Given the description of an element on the screen output the (x, y) to click on. 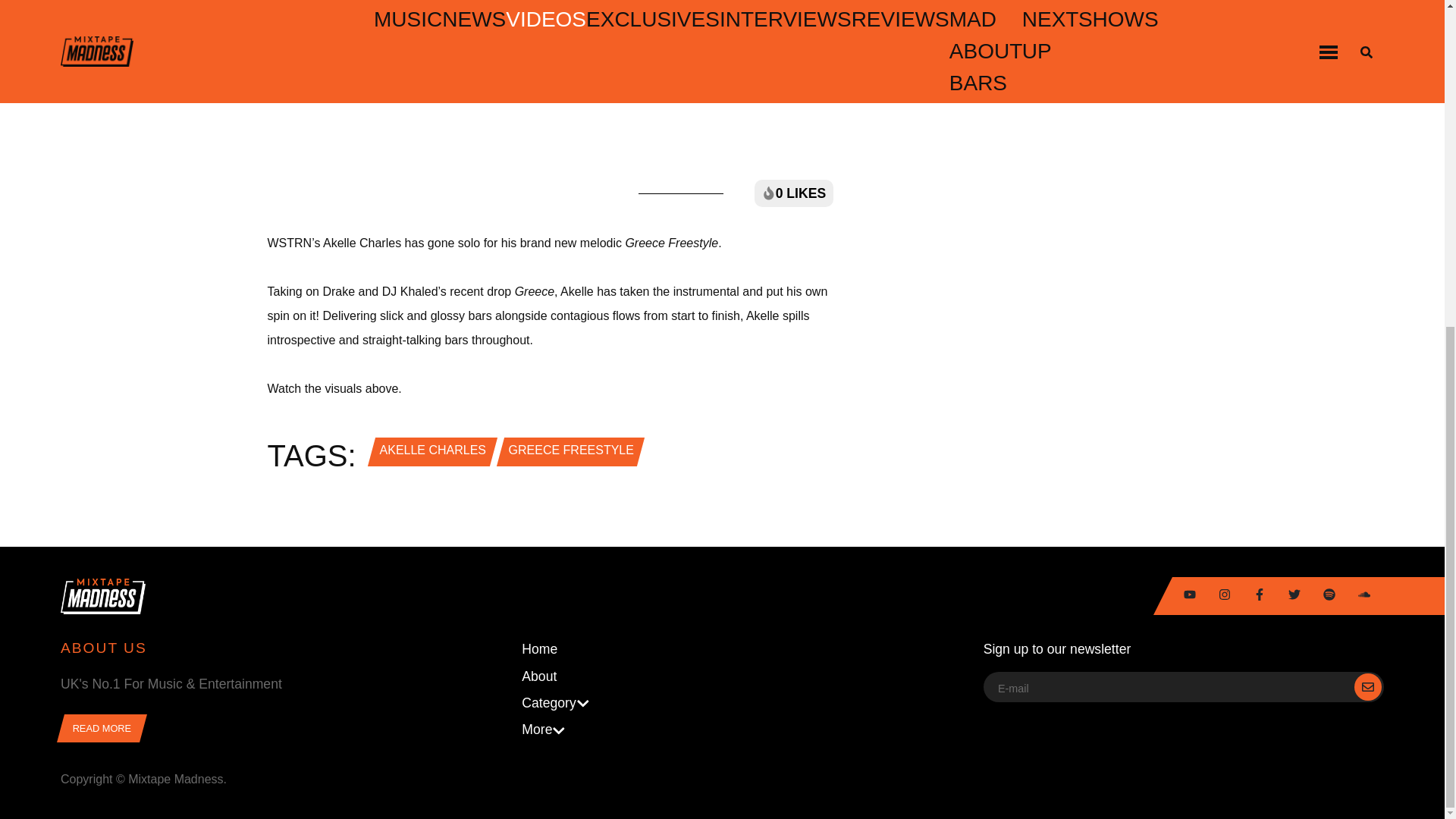
About (721, 676)
0 LIKES (793, 193)
Home (721, 649)
